Given the description of an element on the screen output the (x, y) to click on. 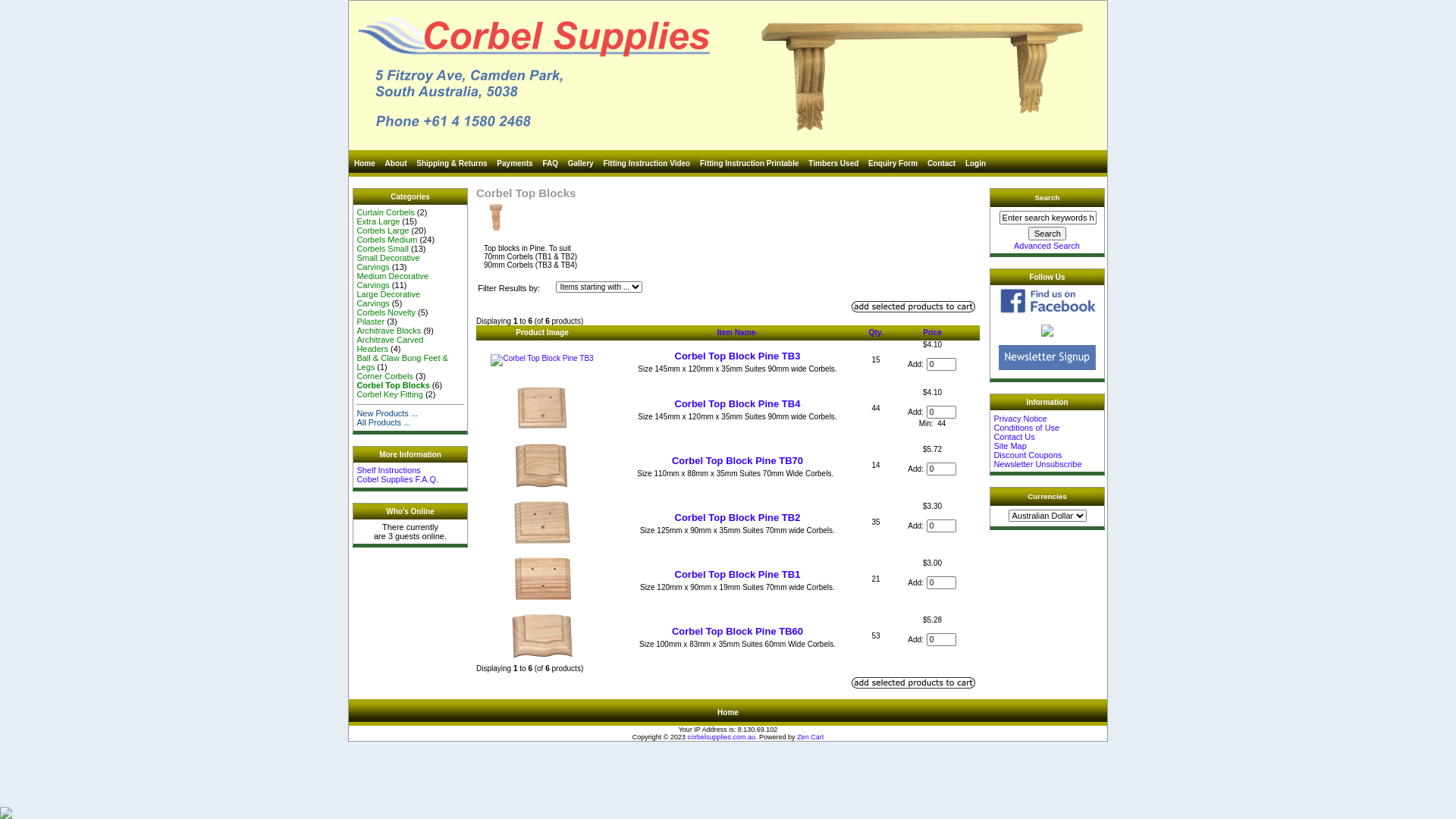
Site Map Element type: text (1009, 445)
Contact Us Element type: text (1013, 436)
Corbel Top Block Pine TB2 Element type: text (737, 517)
Architrave Carved Headers Element type: text (389, 344)
Corbel Top Blocks Element type: text (392, 384)
Small Decorative Carvings Element type: text (387, 262)
All Products ... Element type: text (383, 421)
Discount Coupons Element type: text (1027, 454)
Corbels Medium Element type: text (386, 239)
Conditions of Use Element type: text (1026, 427)
Corbel Top Block Pine TB70 Element type: text (737, 460)
 Corbel Top Block Pine TB70  Element type: hover (542, 464)
Corbel Top Block Pine TB60 Element type: text (737, 631)
Item Name- Element type: text (737, 332)
Fitting Instruction Printable Element type: text (750, 163)
Corner Corbels Element type: text (384, 375)
About Element type: text (397, 163)
Corbel Top Block Pine TB3 Element type: text (737, 355)
Home Element type: text (364, 163)
Architrave Blocks Element type: text (388, 330)
 Add Selected Products to Cart  Element type: hover (913, 682)
 Corbel Top Block Pine TB2  Element type: hover (542, 521)
Timbers Used Element type: text (834, 163)
Payments Element type: text (515, 163)
New Products ... Element type: text (386, 412)
Cobel Supplies F.A.Q. Element type: text (397, 478)
Shipping & Returns Element type: text (452, 163)
 Corbel Top Block Pine TB4  Element type: hover (542, 407)
 Corbel Top Block Pine TB60  Element type: hover (542, 635)
Corbels Large Element type: text (382, 230)
Zen Cart Element type: text (810, 736)
corbelsupplies.com.au Element type: text (721, 736)
Enquiry Form Element type: text (892, 163)
Gallery Element type: text (581, 163)
Price Element type: text (931, 332)
Advanced Search Element type: text (1046, 245)
Ball & Claw Bung Feet & Legs Element type: text (401, 362)
Curtain Corbels Element type: text (385, 211)
Corbels Small Element type: text (381, 248)
Search Element type: text (1047, 233)
Login Element type: text (975, 163)
Contact Element type: text (941, 163)
Fitting Instruction Video Element type: text (647, 163)
Large Decorative Carvings Element type: text (388, 298)
Corbel Top Block Pine TB4 Element type: text (737, 403)
Shelf Instructions Element type: text (388, 469)
Qty. Element type: text (876, 332)
 Corbel Top Block Pine TB1  Element type: hover (542, 578)
 Corbel Top Block Pine TB3  Element type: hover (541, 360)
Home Element type: text (727, 712)
Corbel Top Block Pine TB1 Element type: text (737, 574)
Pilaster Element type: text (370, 321)
Corbels Novelty Element type: text (385, 311)
 Corbel Supplies Adelaide South Australia  Element type: hover (727, 75)
Privacy Notice Element type: text (1019, 418)
Medium Decorative Carvings Element type: text (392, 280)
 Add Selected Products to Cart  Element type: hover (913, 306)
Corbel Key Fitting Element type: text (389, 393)
FAQ Element type: text (550, 163)
Newsletter Unsubscribe Element type: text (1037, 463)
Extra Large Element type: text (377, 220)
